Given the description of an element on the screen output the (x, y) to click on. 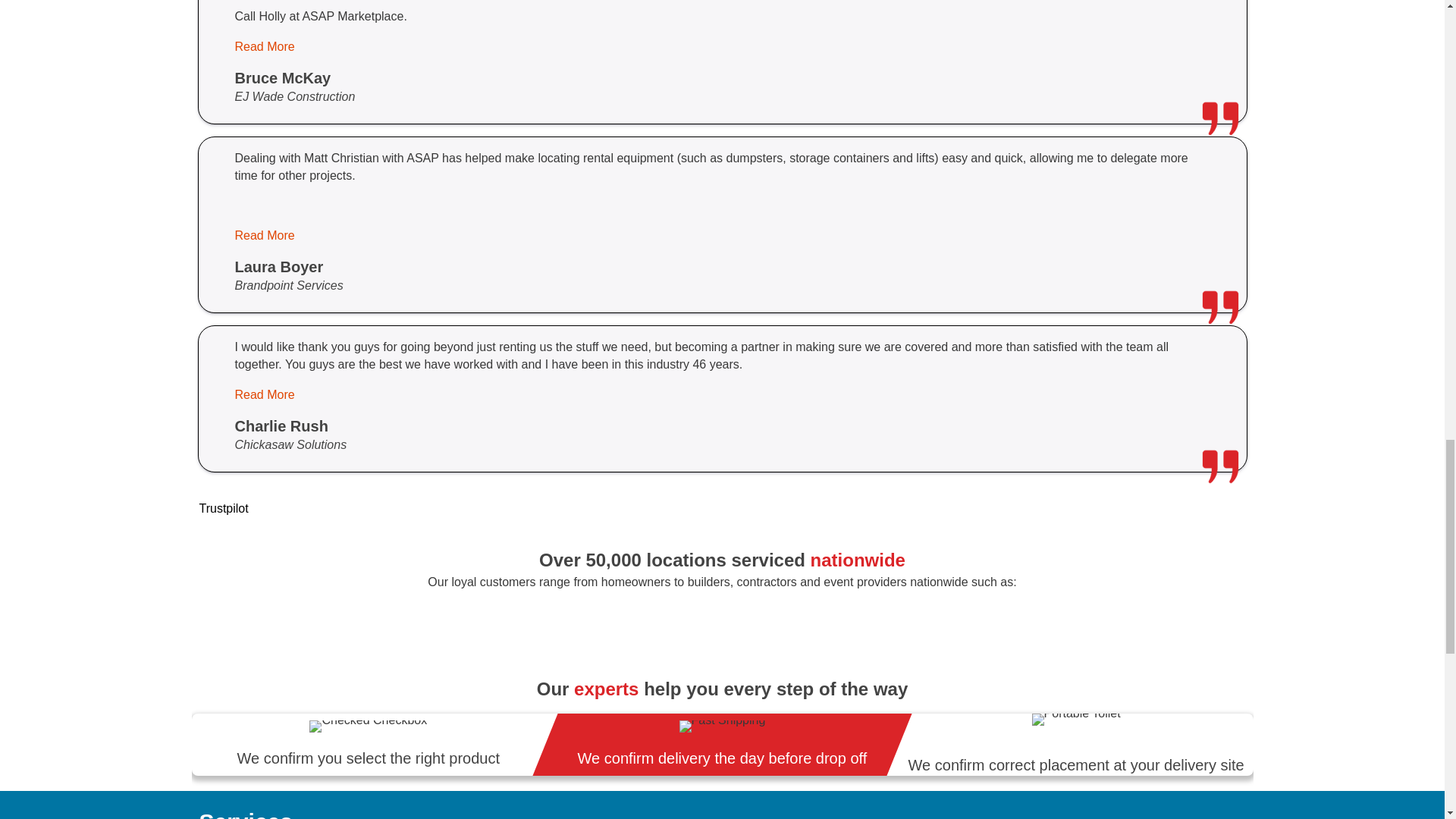
Fast Shipping (722, 726)
Checked Checkbox (367, 726)
Portable Toilet (1076, 719)
